Given the description of an element on the screen output the (x, y) to click on. 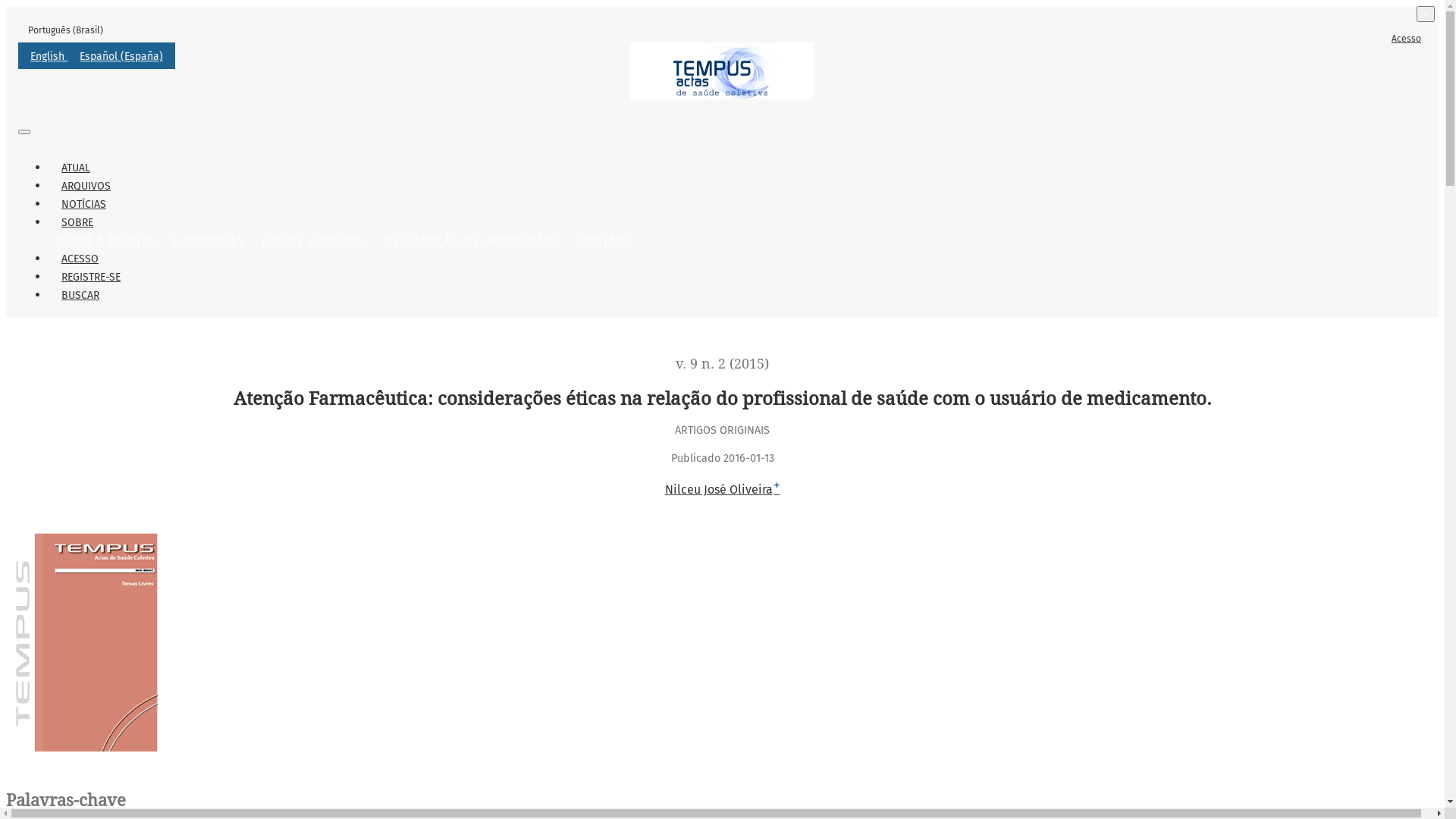
SOBRE Element type: text (77, 222)
EQUIPE EDITORIAL Element type: text (315, 240)
ARQUIVOS Element type: text (85, 185)
ACESSO Element type: text (79, 258)
CONTATO Element type: text (603, 240)
ATUAL Element type: text (75, 167)
REGISTRE-SE Element type: text (90, 276)
BUSCAR Element type: text (80, 295)
Acesso Element type: text (1406, 38)
English Element type: text (48, 56)
v. 9 n. 2 (2015) Element type: text (721, 363)
SOBRE A REVISTA Element type: text (106, 240)
